Given the description of an element on the screen output the (x, y) to click on. 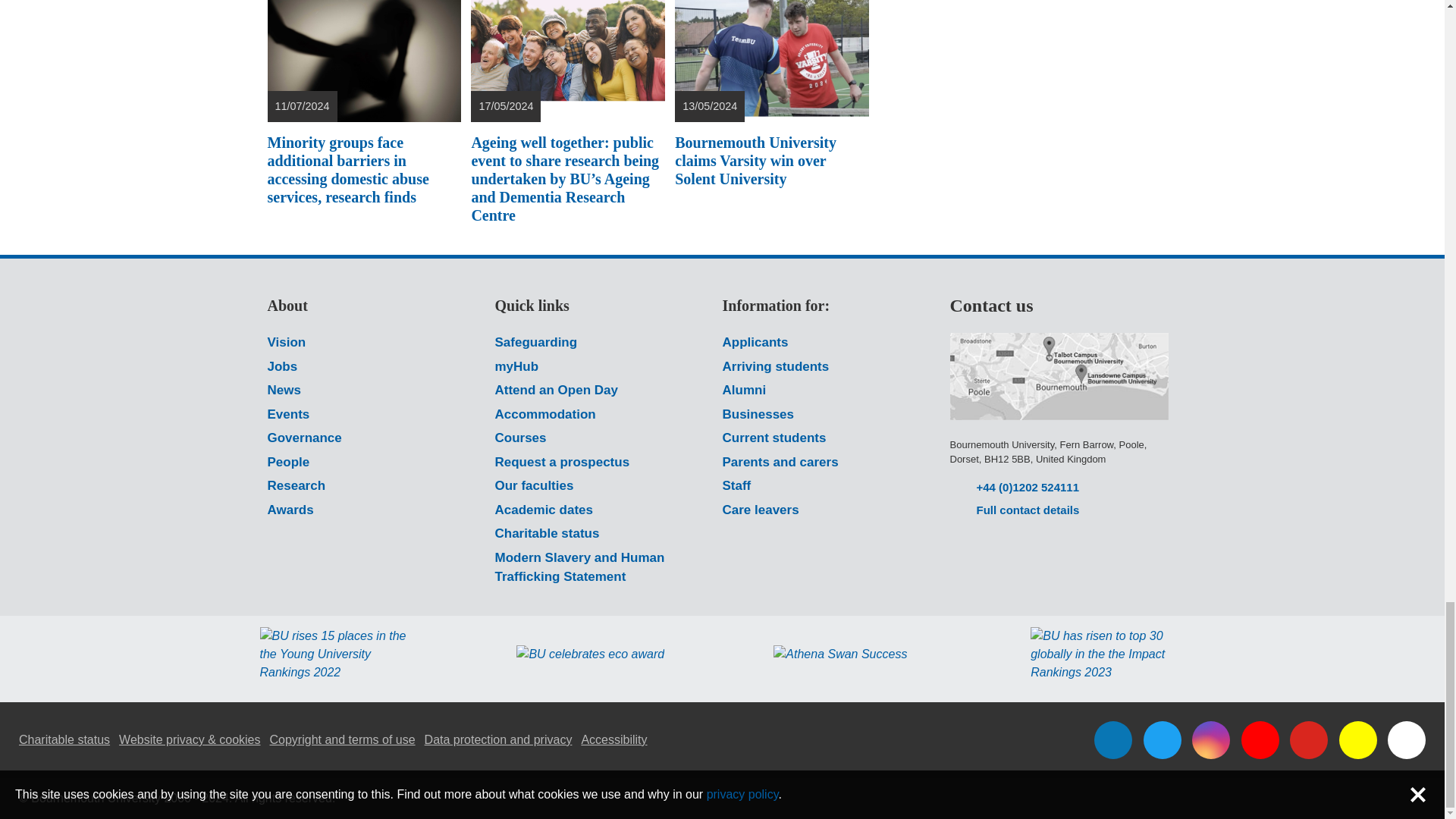
A group of older people sat outside laughing (566, 61)
A figure in shadow with their head in their hands (363, 61)
Solent and BU Men's Tennis (771, 61)
